Given the description of an element on the screen output the (x, y) to click on. 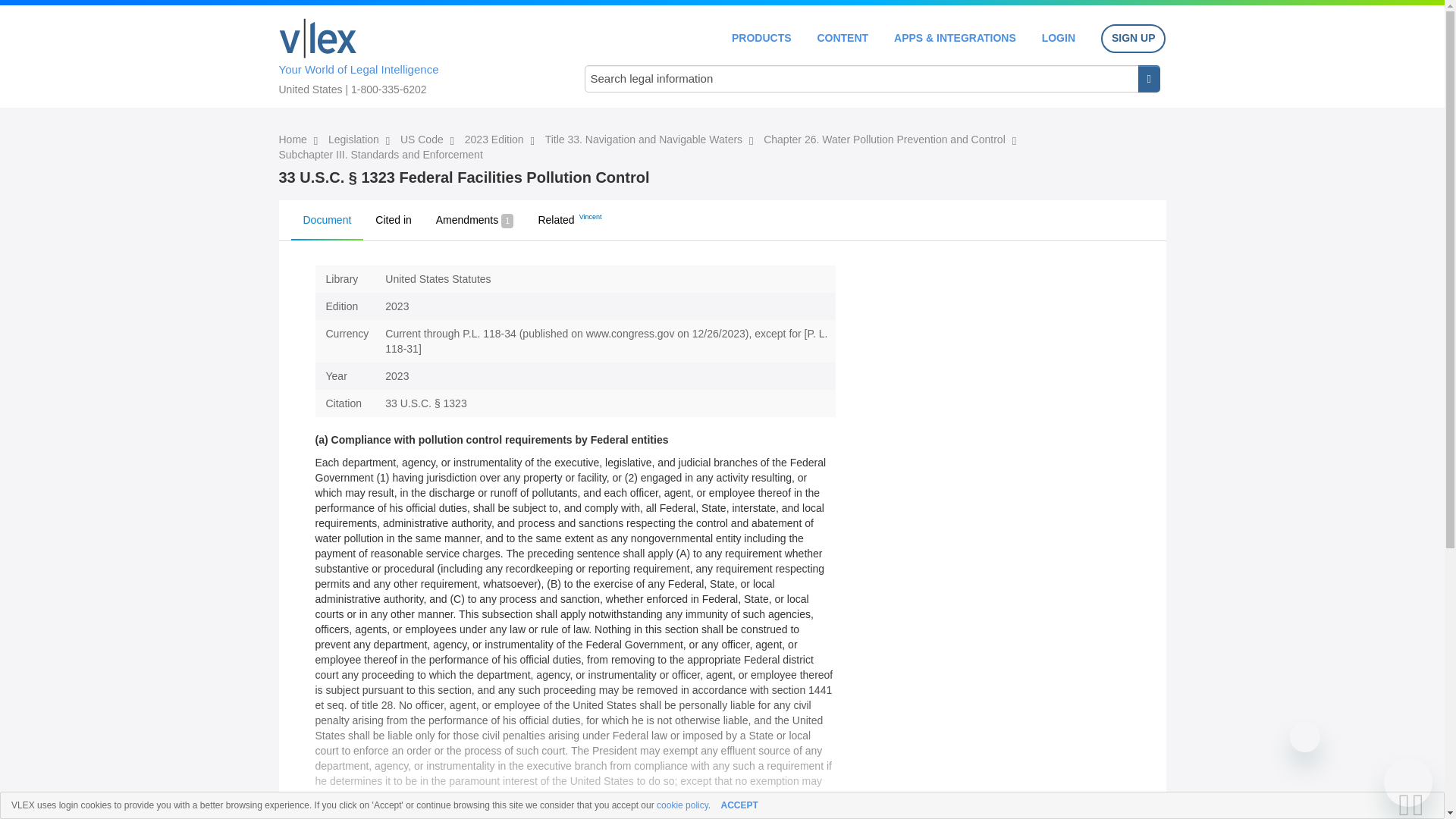
2023 Edition (495, 139)
Home (294, 139)
LOGIN (1058, 37)
Home (317, 38)
Legislation (355, 139)
Your World of Legal Intelligence (416, 53)
PRODUCTS (762, 37)
Subchapter III. Standards and Enforcement (381, 154)
cookie policy (681, 805)
CONTENT (841, 37)
